Given the description of an element on the screen output the (x, y) to click on. 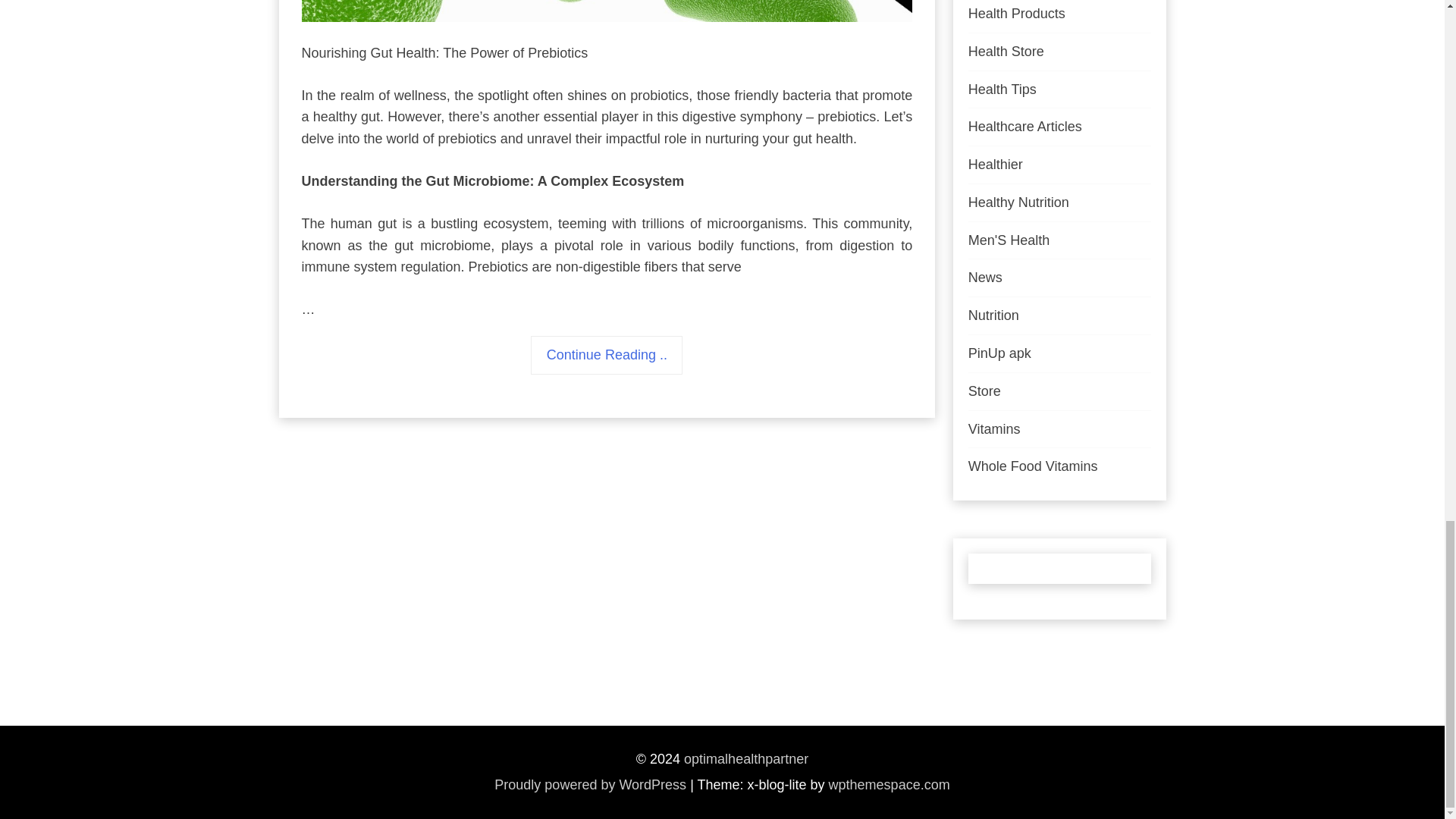
Continue Reading .. (606, 354)
